Given the description of an element on the screen output the (x, y) to click on. 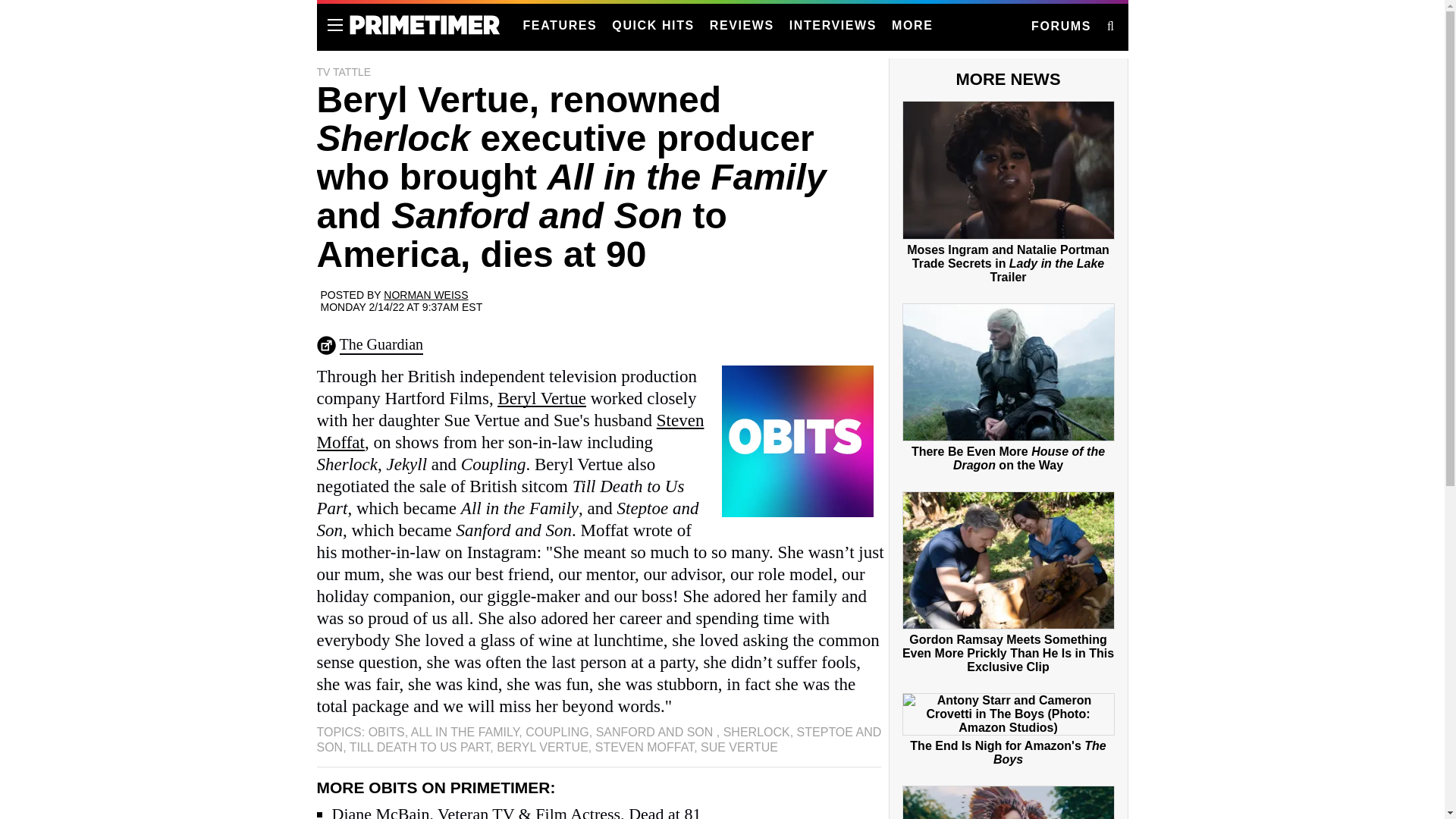
COUPLING (557, 731)
FORUMS (1060, 26)
REVIEWS (742, 26)
OBITS (386, 731)
TILL DEATH TO US PART (419, 747)
NORMAN WEISS (425, 295)
MORE (912, 26)
STEPTOE AND SON (599, 739)
ALL IN THE FAMILY (464, 731)
The Guardian (381, 345)
